Given the description of an element on the screen output the (x, y) to click on. 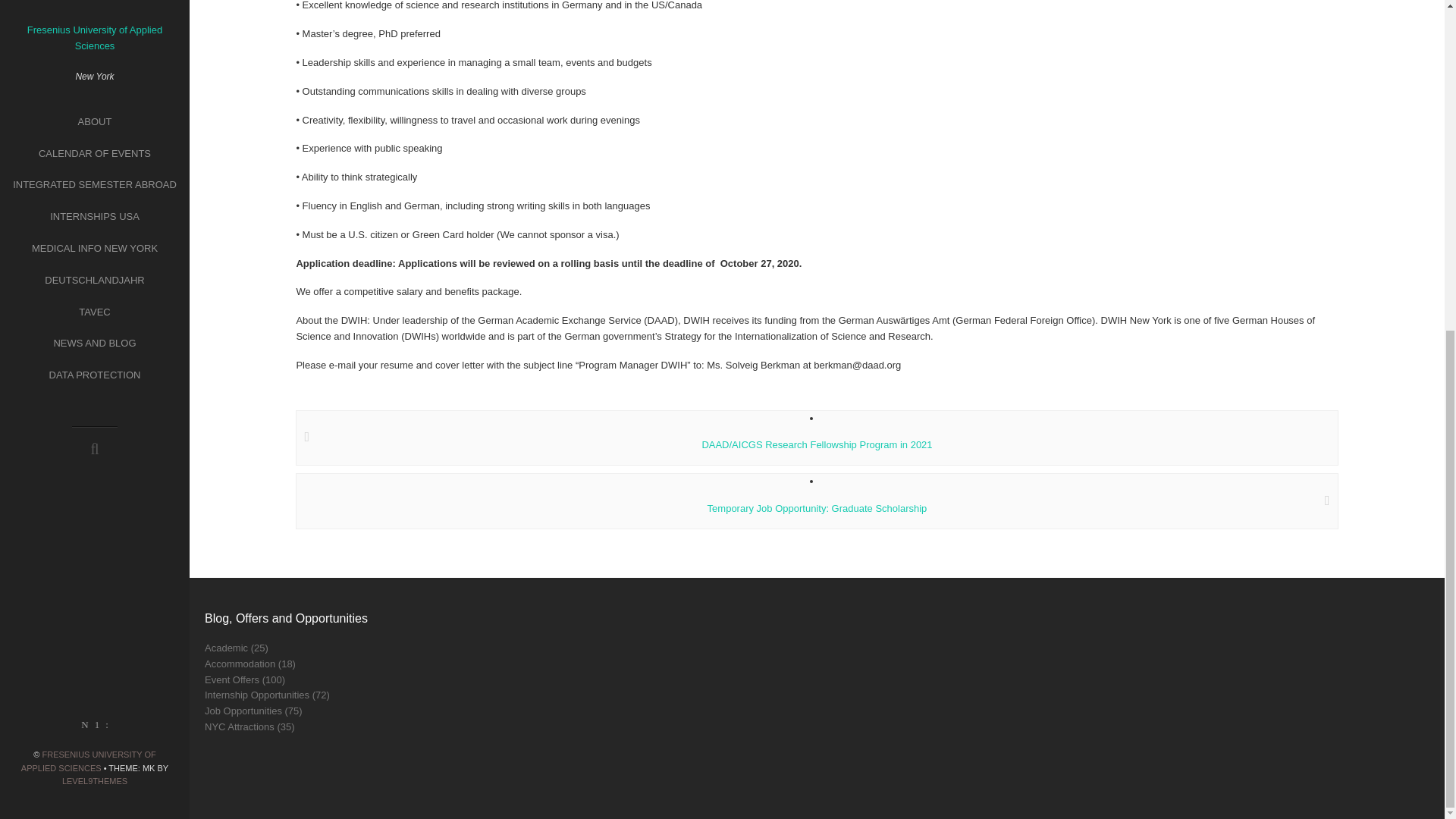
LEVEL9THEMES (95, 232)
Accommodation (240, 663)
Event Offers (232, 679)
Temporary Job Opportunity: Graduate Scholarship (816, 508)
NYC Attractions (240, 726)
Job Opportunities (243, 710)
FRESENIUS UNIVERSITY OF APPLIED SCIENCES (88, 212)
Academic (226, 647)
Internship Opportunities (256, 695)
